Given the description of an element on the screen output the (x, y) to click on. 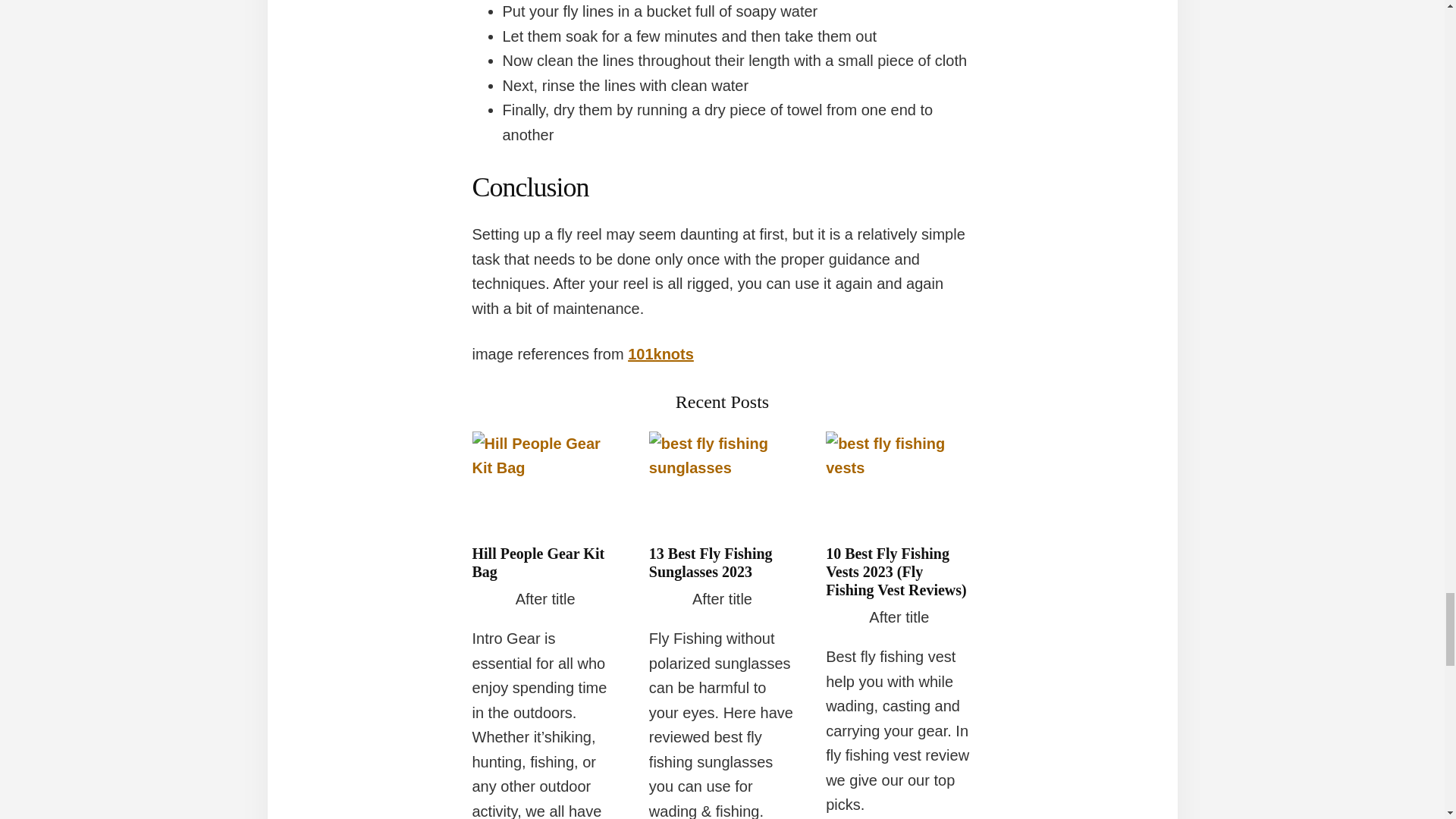
101knots (660, 353)
Hill People Gear Kit Bag (537, 562)
13 Best Fly Fishing Sunglasses 2023 (711, 562)
